Given the description of an element on the screen output the (x, y) to click on. 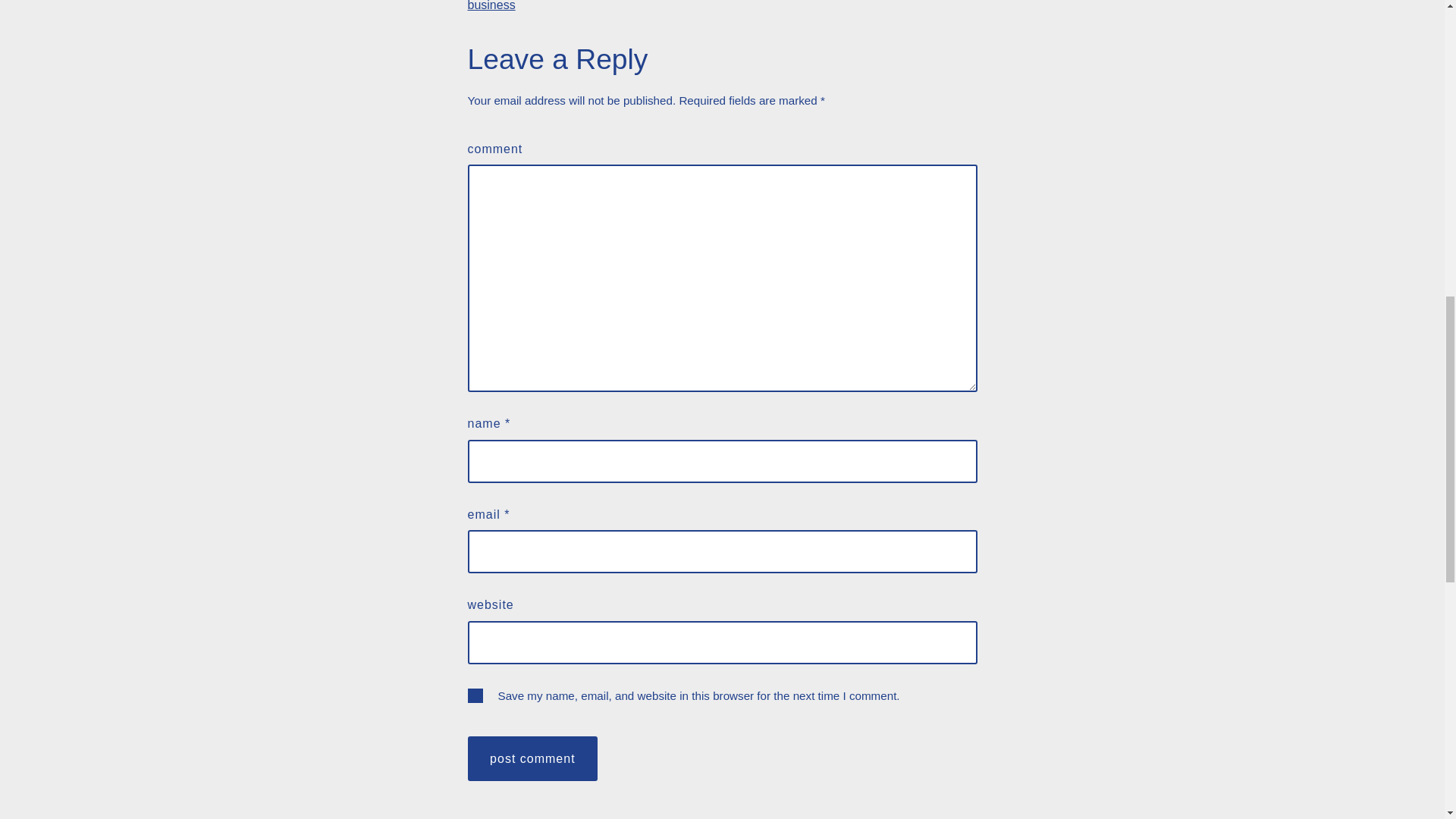
Post Comment (531, 758)
Post Comment (531, 758)
business (491, 5)
